Given the description of an element on the screen output the (x, y) to click on. 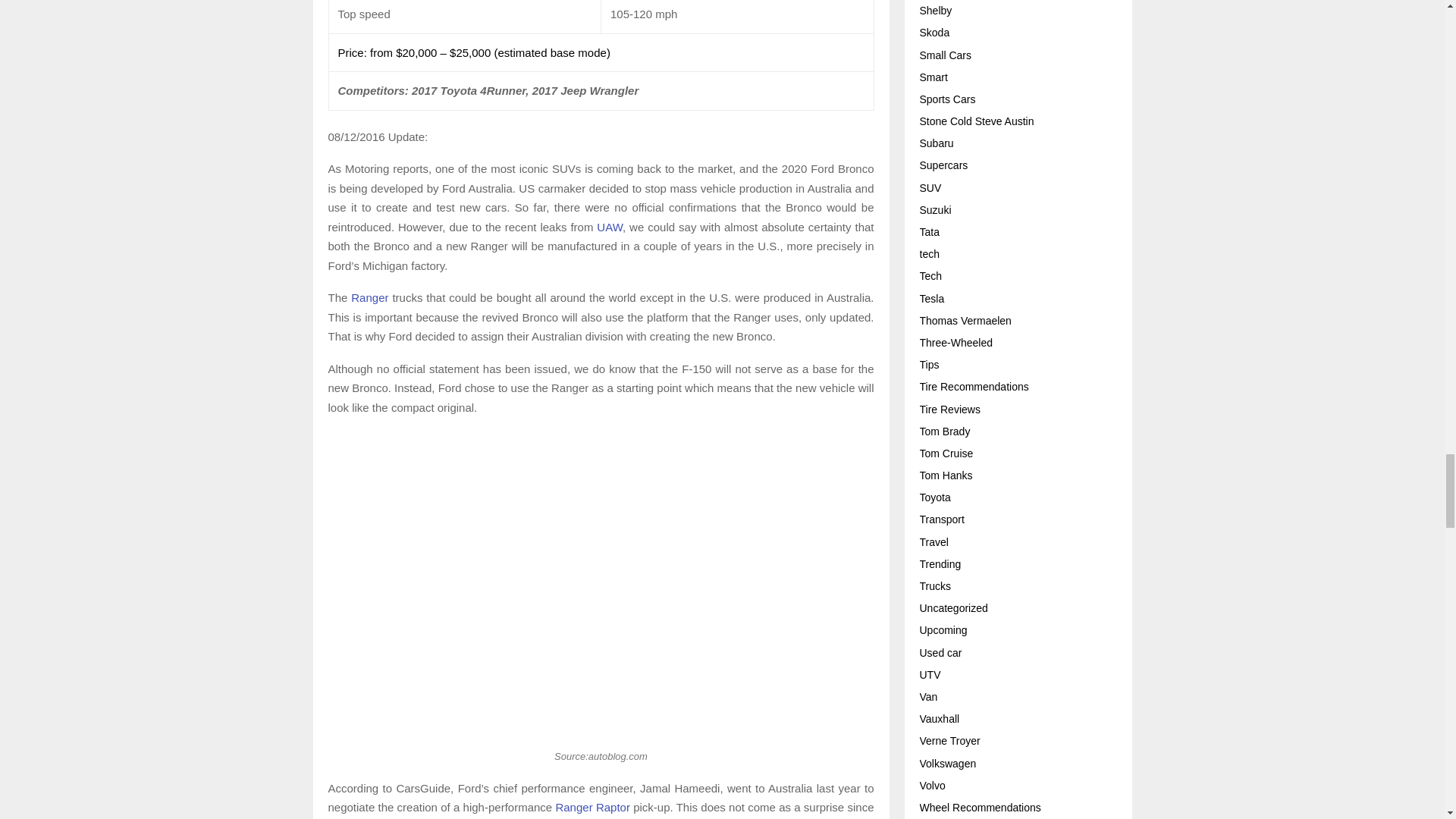
UAW (609, 226)
Ranger (369, 297)
Ranger Raptor (591, 807)
